Given the description of an element on the screen output the (x, y) to click on. 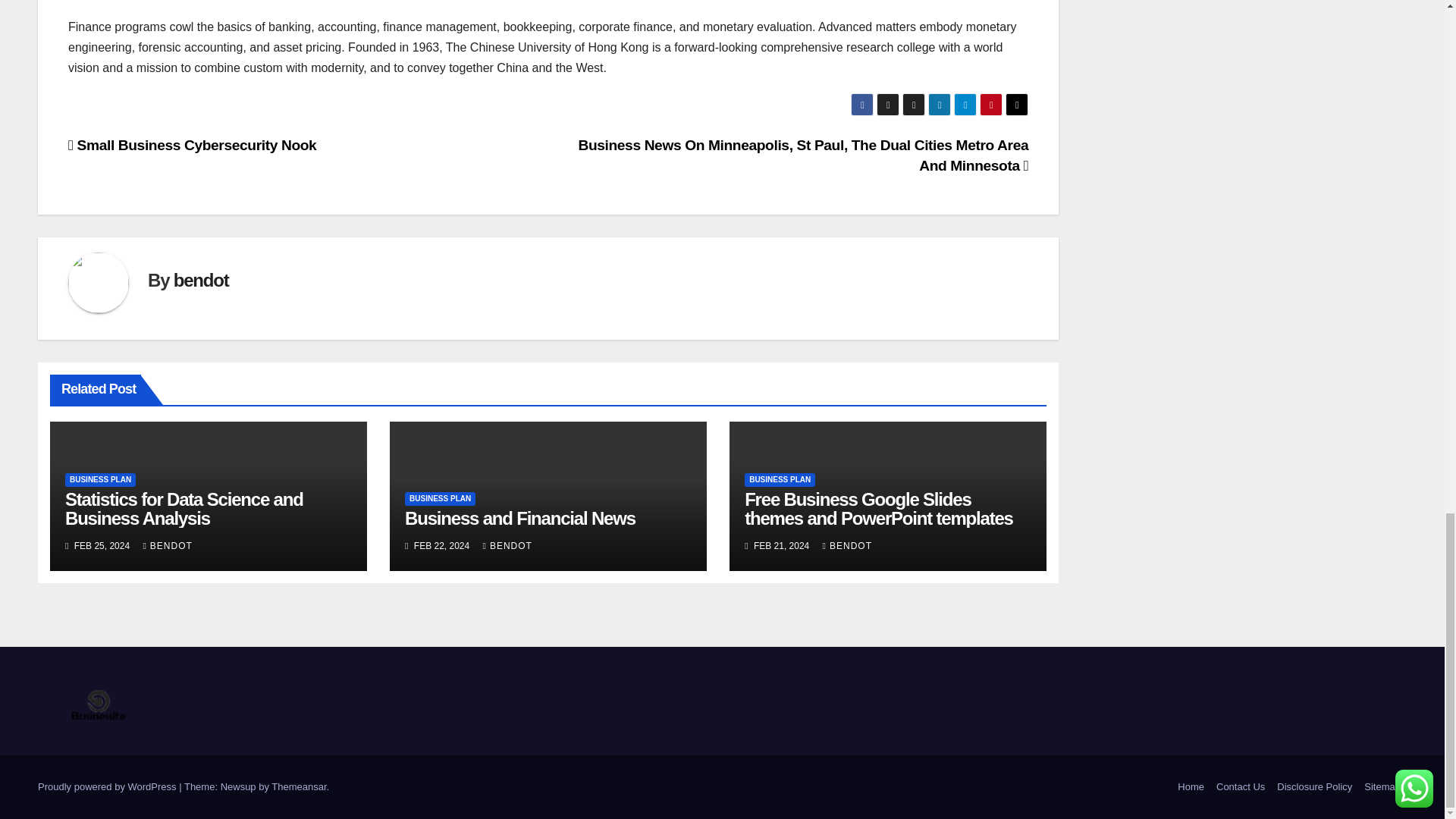
BENDOT (167, 545)
BUSINESS PLAN (100, 479)
Permalink to: Business and Financial News (519, 517)
Statistics for Data Science and Business Analysis (183, 508)
Home (1190, 786)
bendot (200, 280)
Small Business Cybersecurity Nook (191, 145)
